Given the description of an element on the screen output the (x, y) to click on. 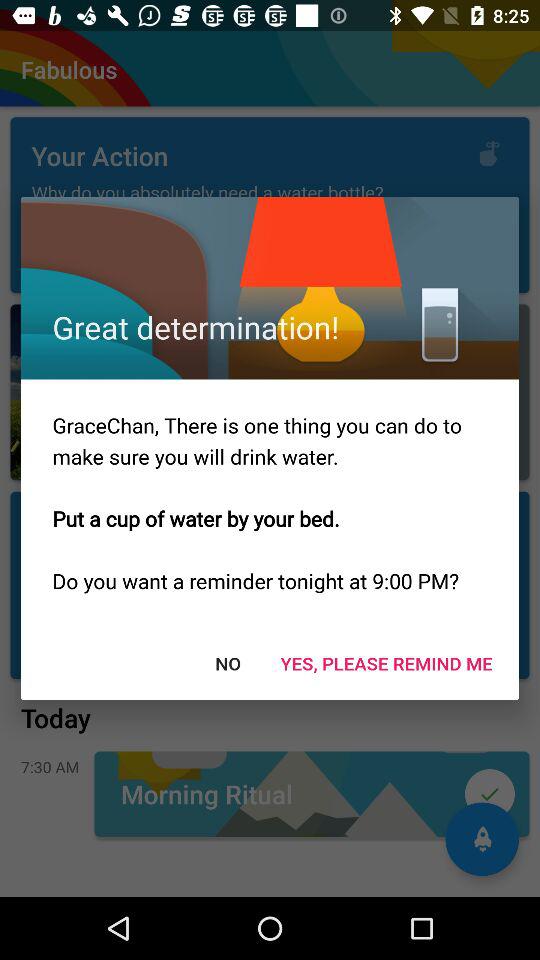
launch the no at the bottom (228, 662)
